Given the description of an element on the screen output the (x, y) to click on. 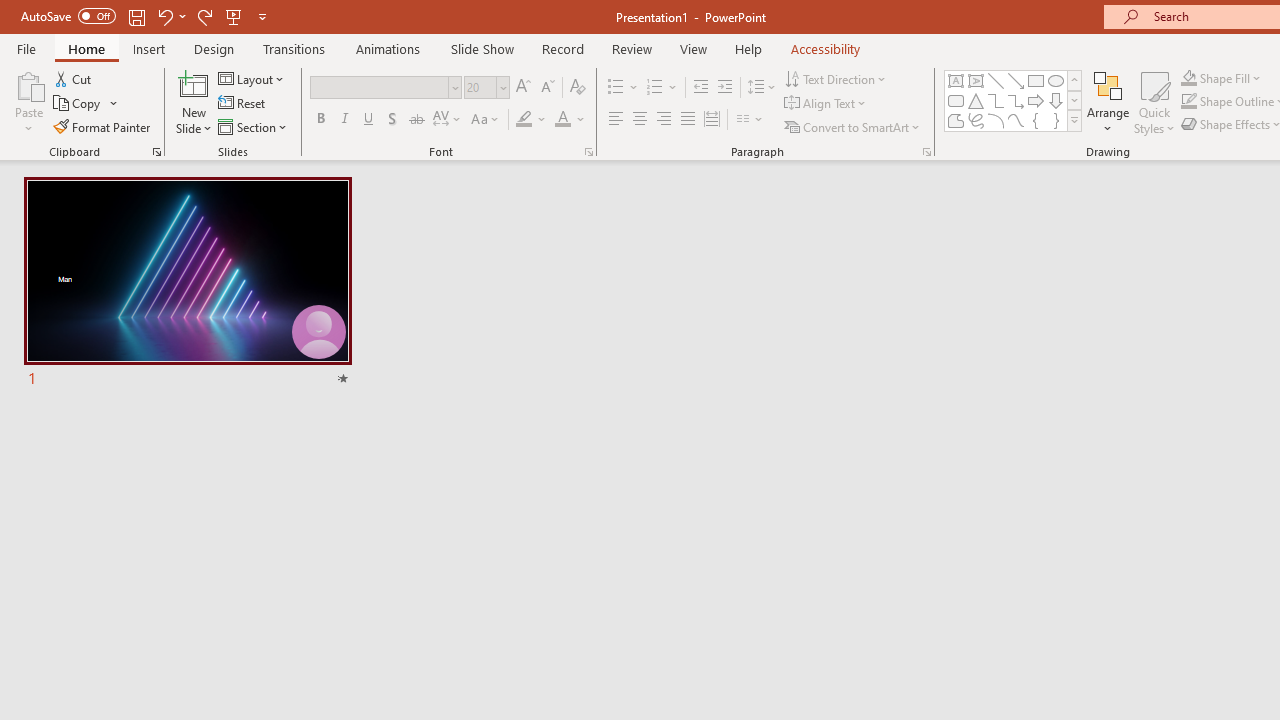
Decrease Font Size (547, 87)
Distributed (712, 119)
Font Color Red (562, 119)
Convert to SmartArt (853, 126)
Freeform: Shape (955, 120)
